Given the description of an element on the screen output the (x, y) to click on. 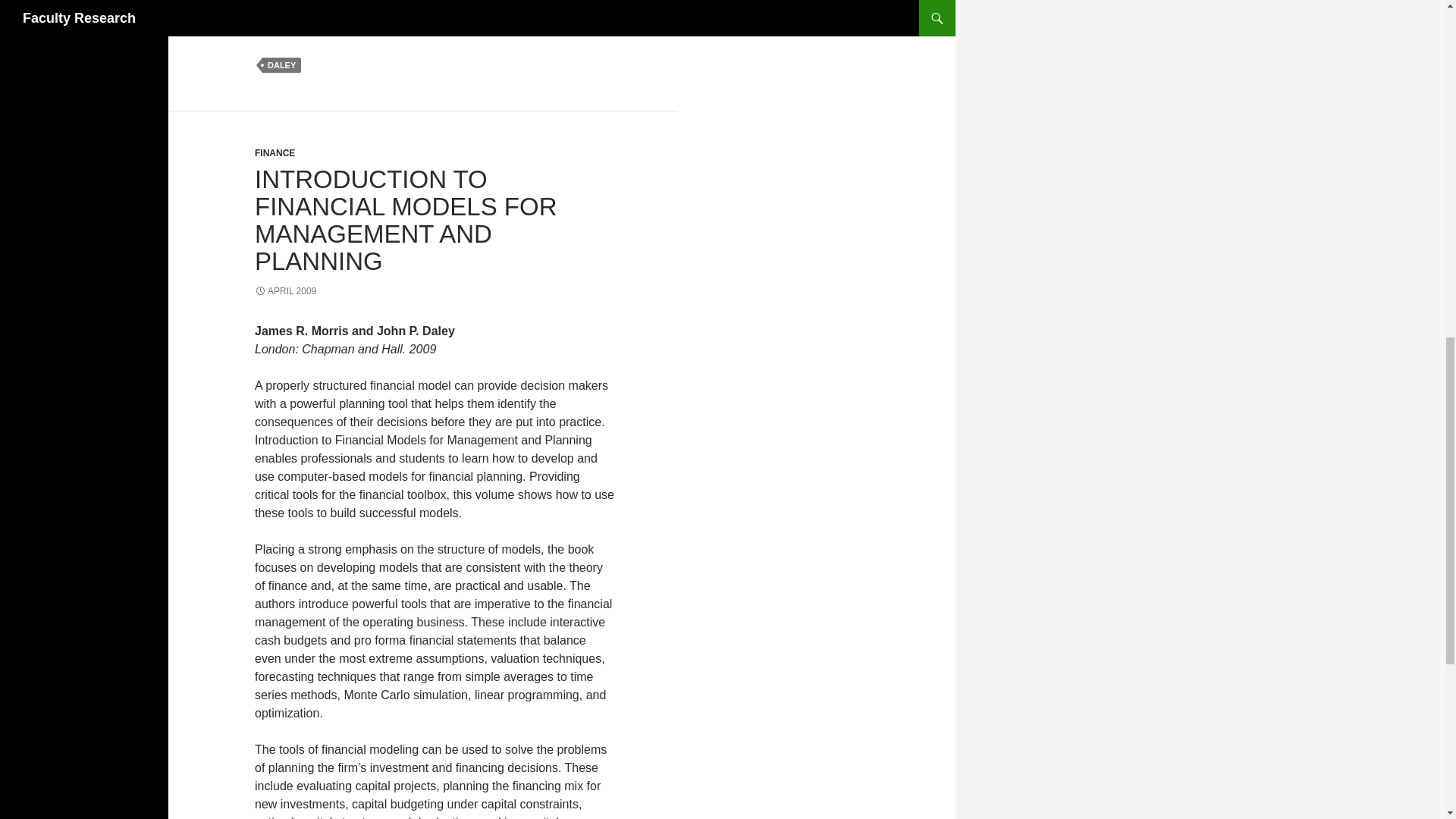
INTRODUCTION TO FINANCIAL MODELS FOR MANAGEMENT AND PLANNING (405, 220)
FINANCE (274, 153)
APRIL 2009 (284, 290)
DALEY (281, 64)
